Given the description of an element on the screen output the (x, y) to click on. 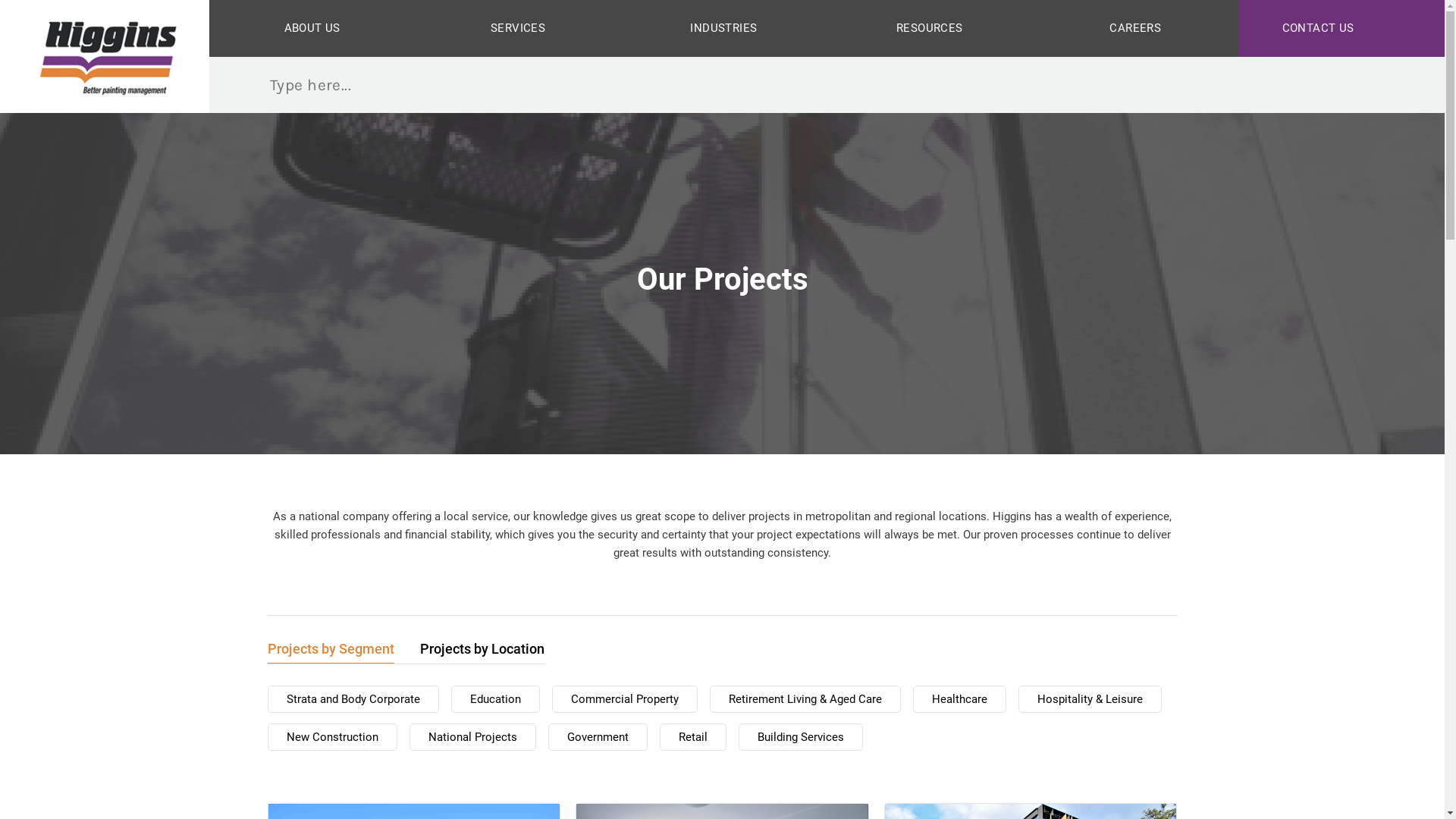
Healthcare Element type: text (959, 698)
ABOUT US Element type: text (311, 28)
Commercial Property Element type: text (624, 698)
Retirement Living & Aged Care Element type: text (804, 698)
Retail Element type: text (692, 736)
Government Element type: text (596, 736)
logo-img Element type: hover (104, 55)
Building Services Element type: text (800, 736)
CAREERS Element type: text (1135, 28)
Education Element type: text (494, 698)
CONTACT US Element type: text (1340, 28)
National Projects Element type: text (472, 736)
Search Google Element type: text (237, 84)
RESOURCES Element type: text (929, 28)
INDUSTRIES Element type: text (723, 28)
SERVICES Element type: text (517, 28)
Hospitality & Leisure Element type: text (1089, 698)
Strata and Body Corporate Element type: text (352, 698)
New Construction Element type: text (331, 736)
